Given the description of an element on the screen output the (x, y) to click on. 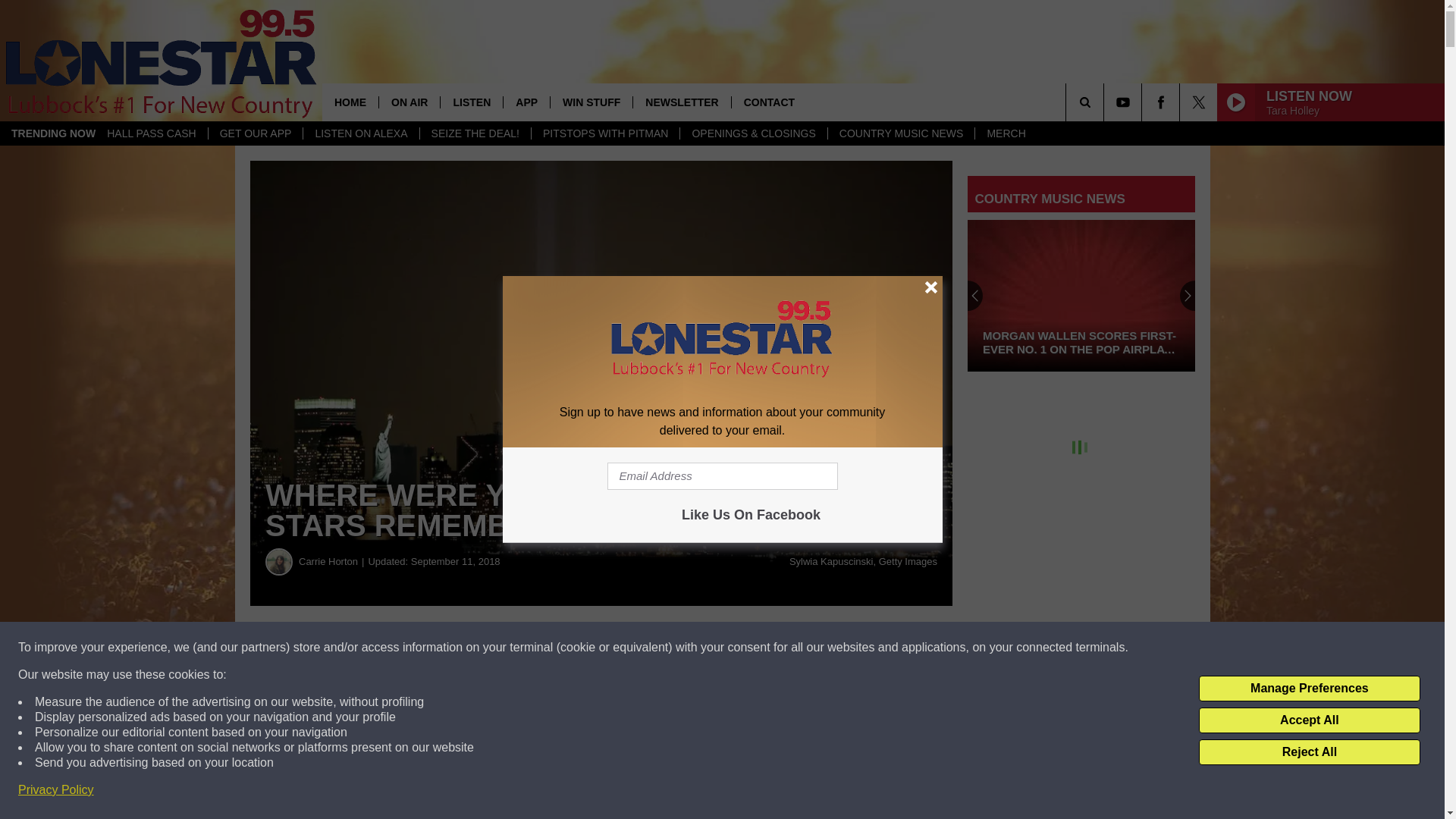
LISTEN ON ALEXA (360, 133)
COUNTRY MUSIC NEWS (901, 133)
APP (526, 102)
Share on Twitter (741, 647)
SEARCH (1106, 102)
HALL PASS CASH (152, 133)
GET OUR APP (255, 133)
HOME (349, 102)
Privacy Policy (55, 789)
ON AIR (408, 102)
MERCH (1005, 133)
Share on Facebook (460, 647)
LISTEN (470, 102)
Accept All (1309, 720)
Manage Preferences (1309, 688)
